Given the description of an element on the screen output the (x, y) to click on. 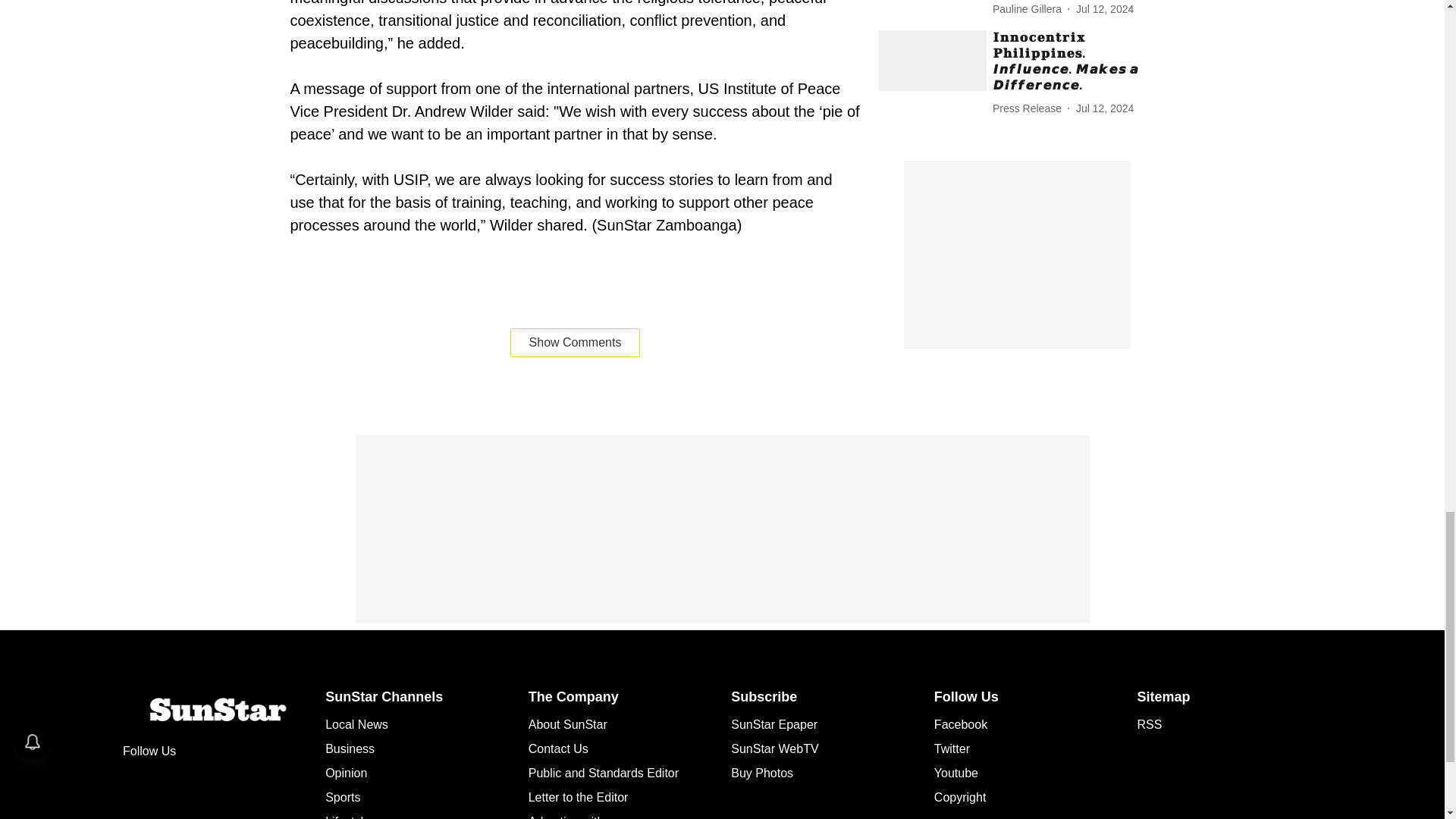
2024-07-12 02:00 (1104, 108)
Show Comments (575, 342)
2024-07-12 07:00 (1104, 9)
